Given the description of an element on the screen output the (x, y) to click on. 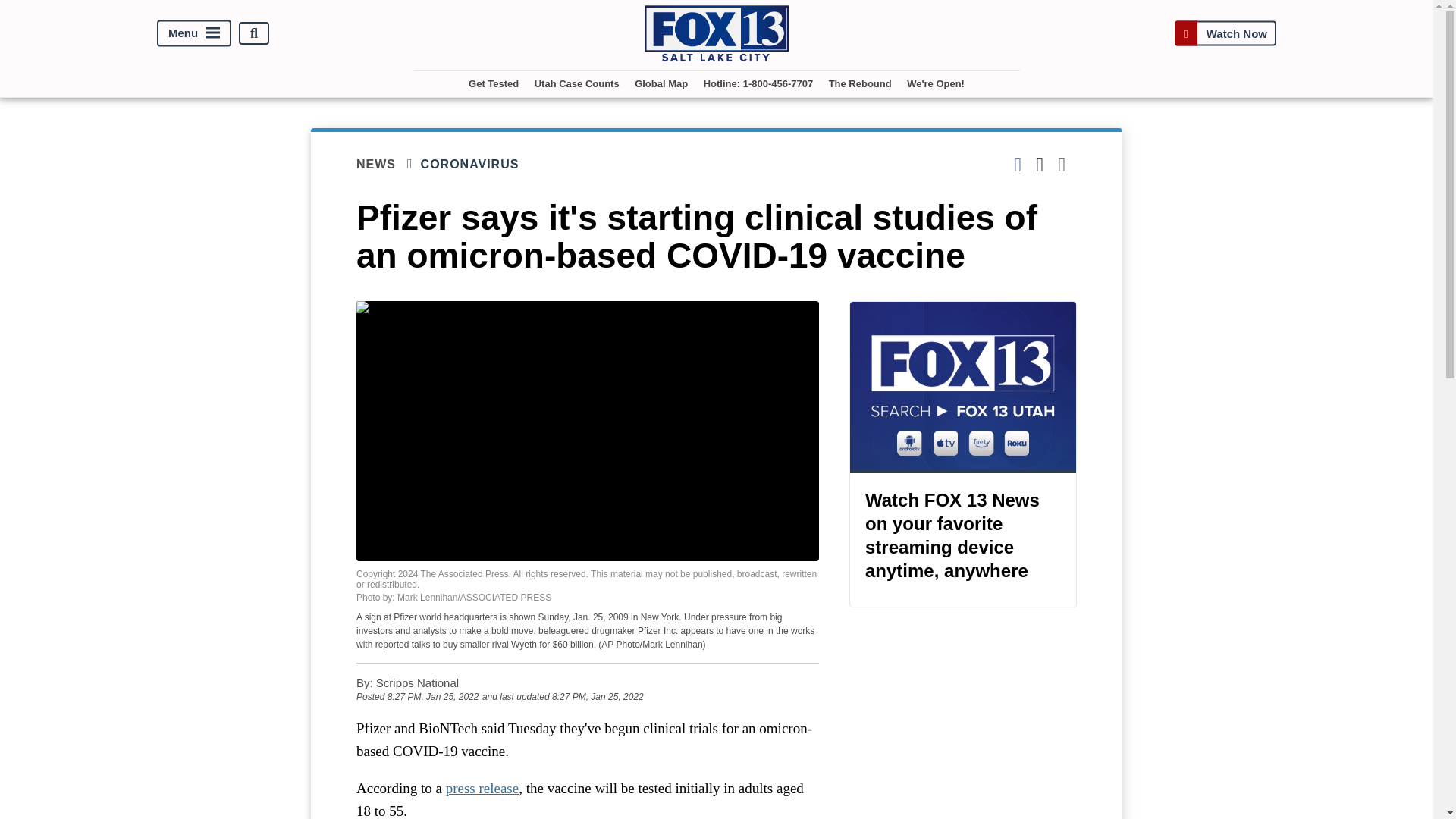
Watch Now (1224, 33)
Menu (194, 33)
